Given the description of an element on the screen output the (x, y) to click on. 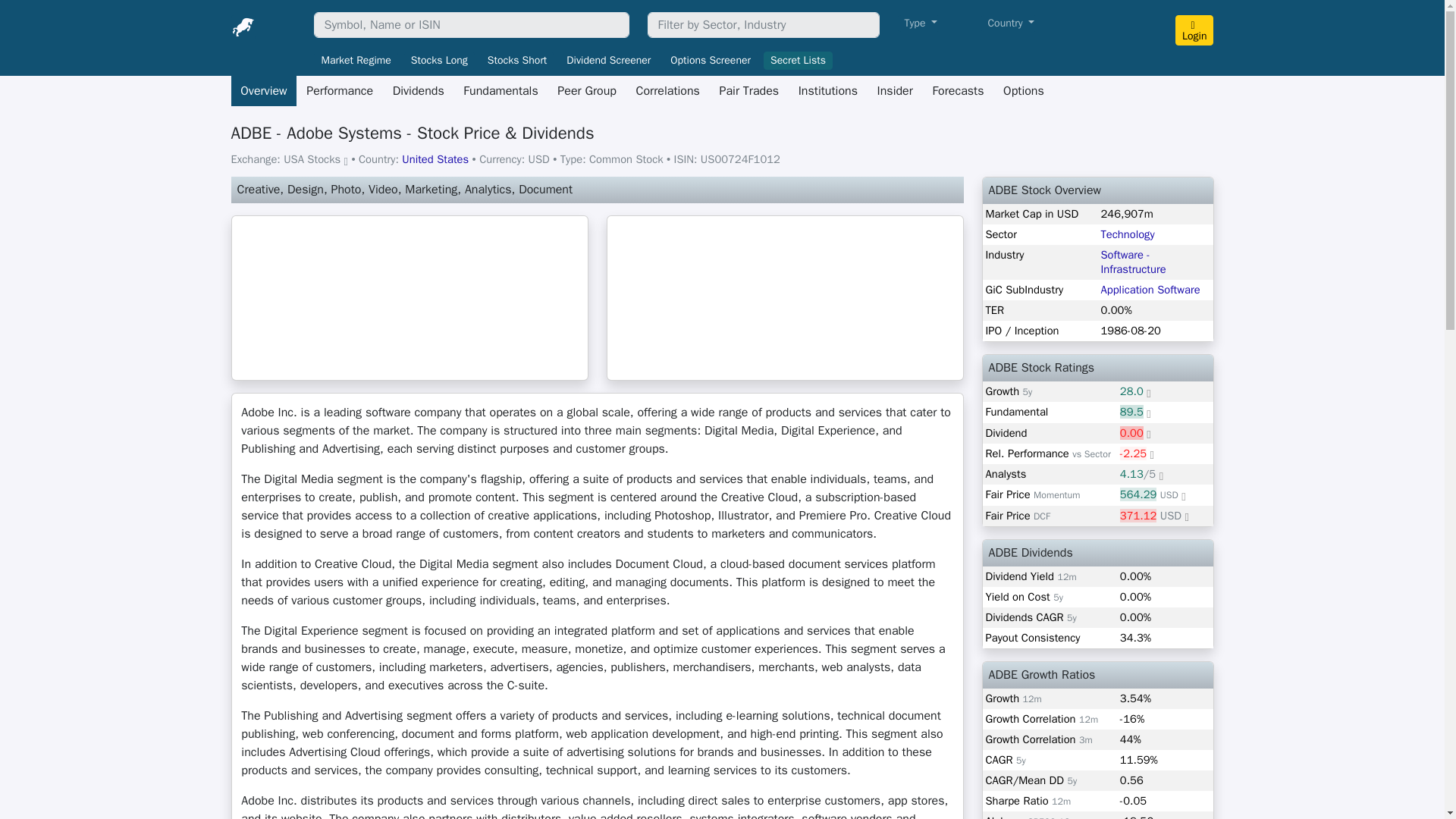
Dividends (418, 91)
Peer Group (587, 91)
Options (1022, 91)
Forecasts (958, 91)
Dividend Screener (608, 60)
United States (434, 159)
Fundamentals (501, 91)
Software - Infrastructure (1133, 262)
Stocks Long (439, 60)
Stocks Short (517, 60)
 Login (1193, 30)
Secret Lists (797, 60)
Options Screener (710, 60)
Market Regime (355, 60)
